Given the description of an element on the screen output the (x, y) to click on. 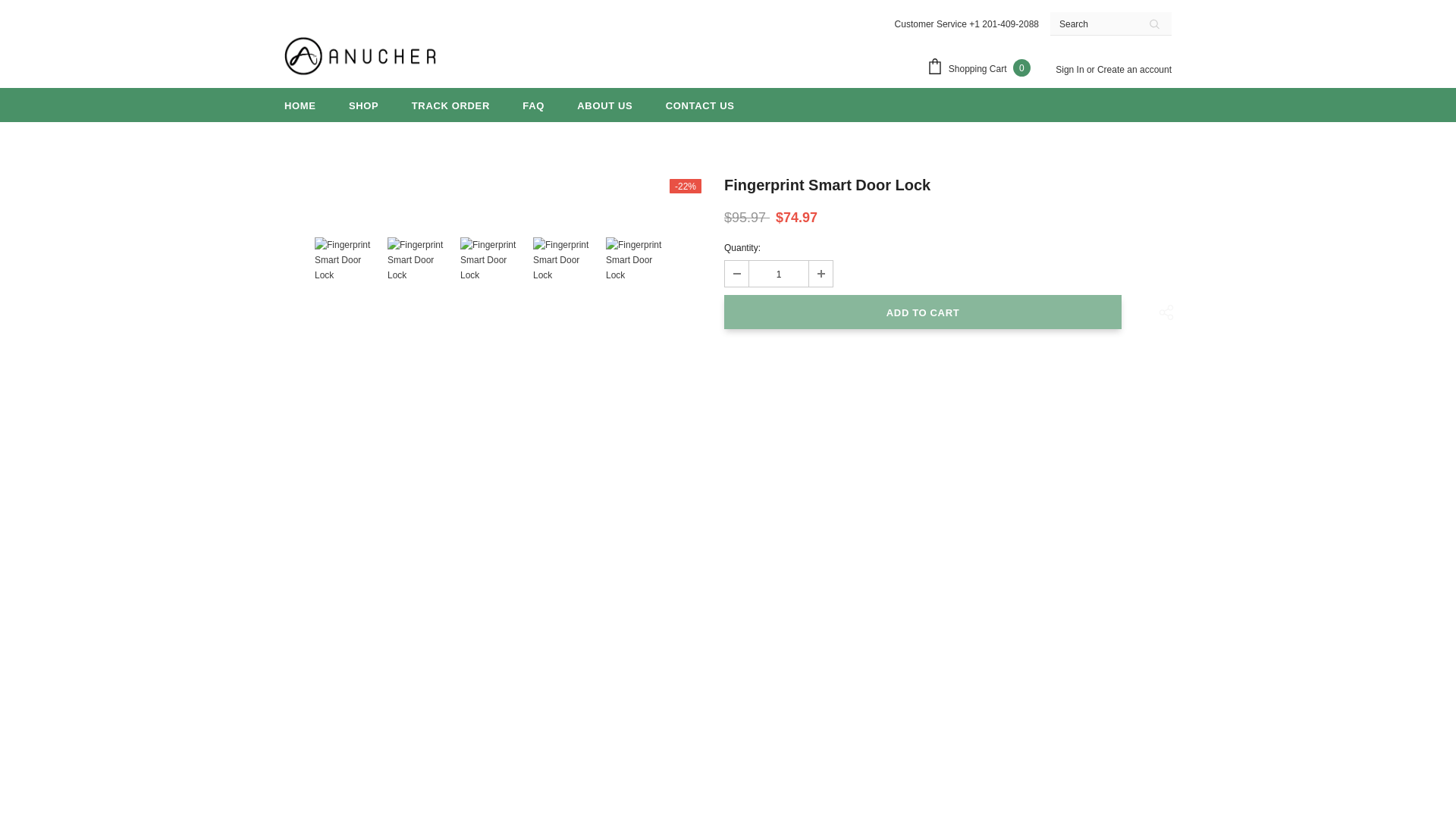
HOME (299, 104)
CONTACT US (700, 104)
Sign In (1070, 69)
TRACK ORDER (450, 104)
Add to cart (922, 311)
Create an account (1134, 69)
ABOUT US (603, 104)
1 (778, 273)
Shopping Cart 0 (981, 68)
